Given the description of an element on the screen output the (x, y) to click on. 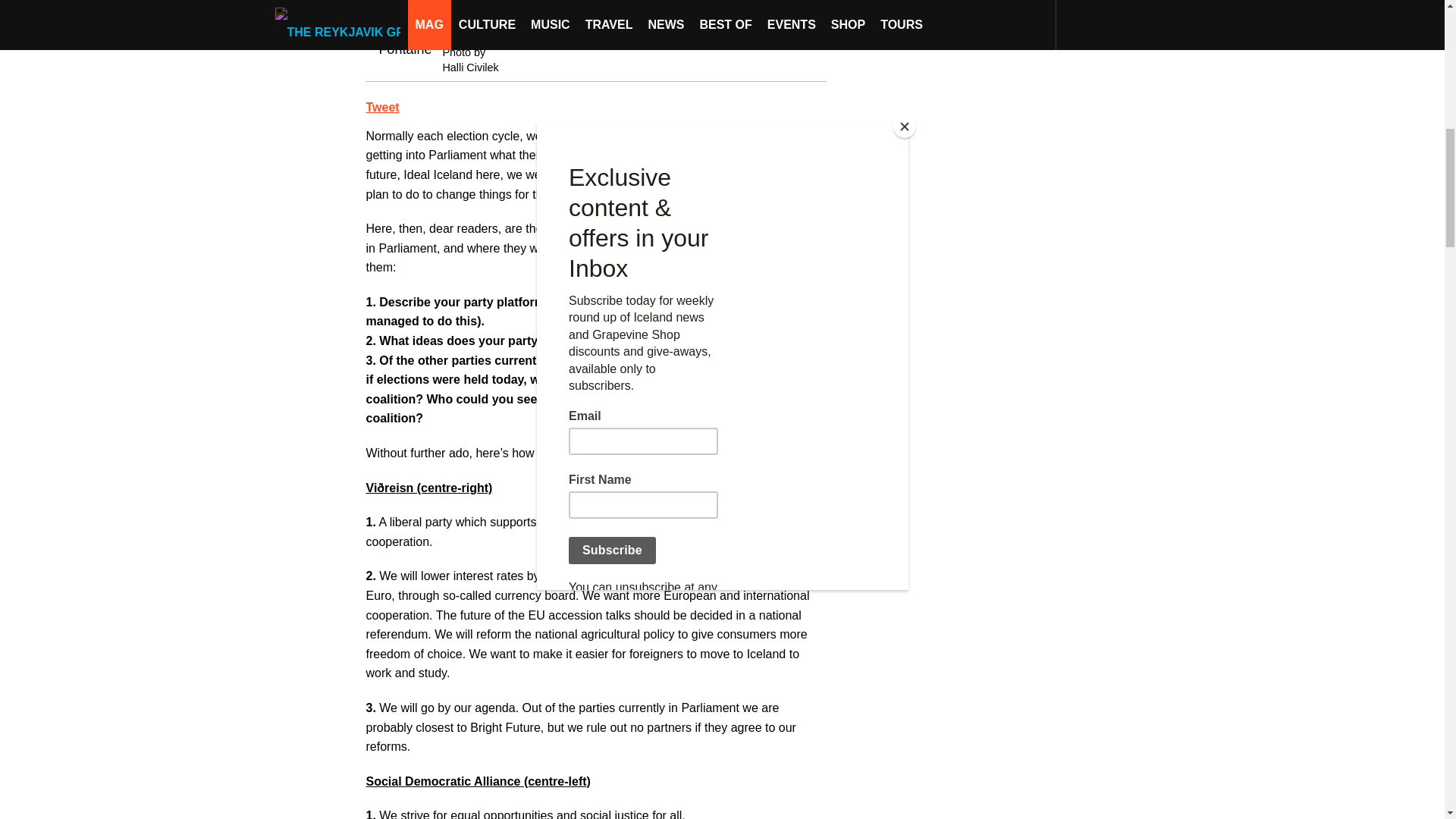
Posts by Andie Sophia Fontaine (497, 32)
Andie Sophia Fontaine (497, 32)
Tweet (381, 106)
